Given the description of an element on the screen output the (x, y) to click on. 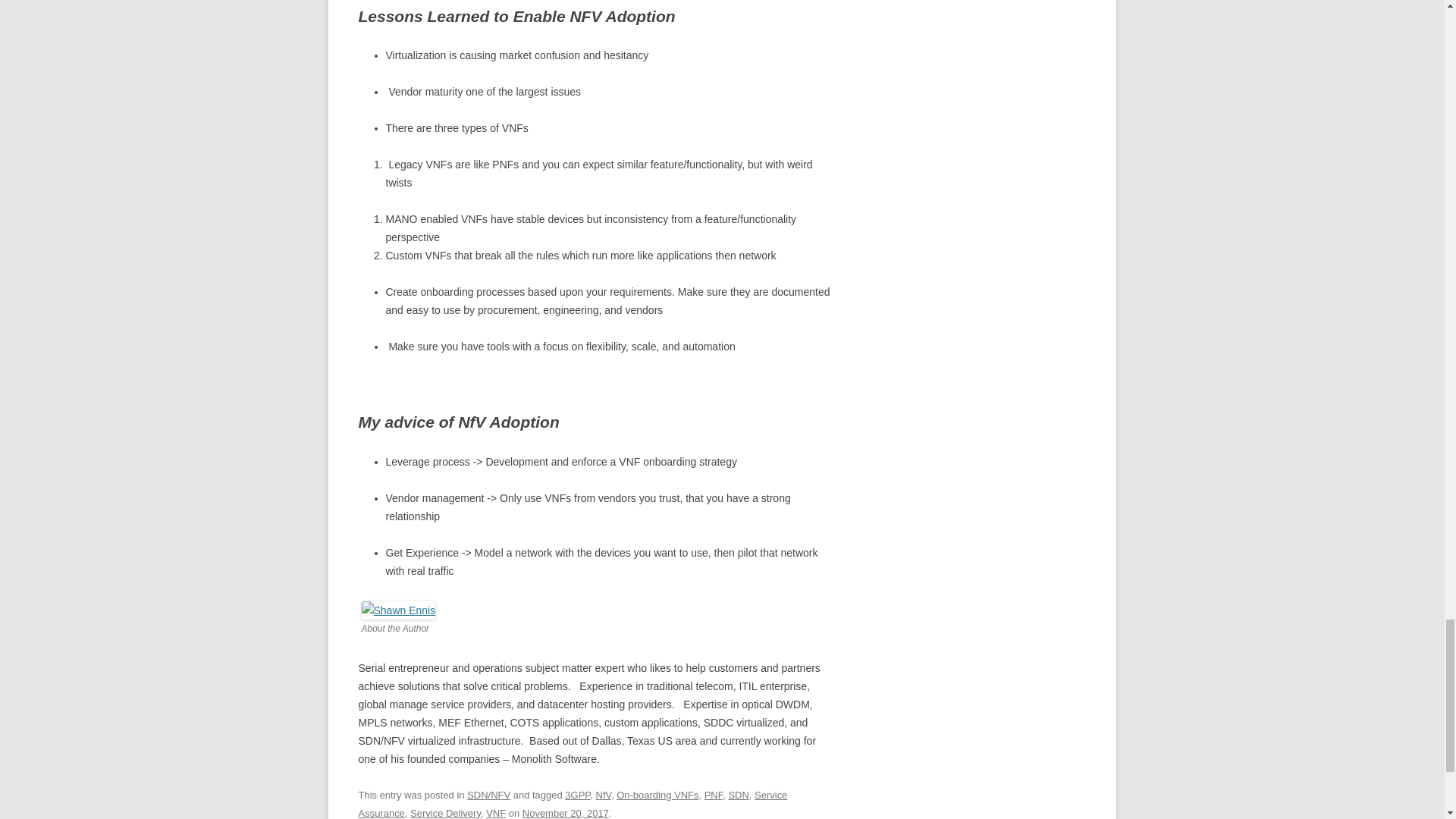
Service Assurance (572, 804)
NfV (603, 794)
VNF (495, 813)
9:00 am (565, 813)
November 20, 2017 (565, 813)
SDN (738, 794)
3GPP (576, 794)
On-boarding VNFs (656, 794)
Service Delivery (445, 813)
PNF (713, 794)
